Given the description of an element on the screen output the (x, y) to click on. 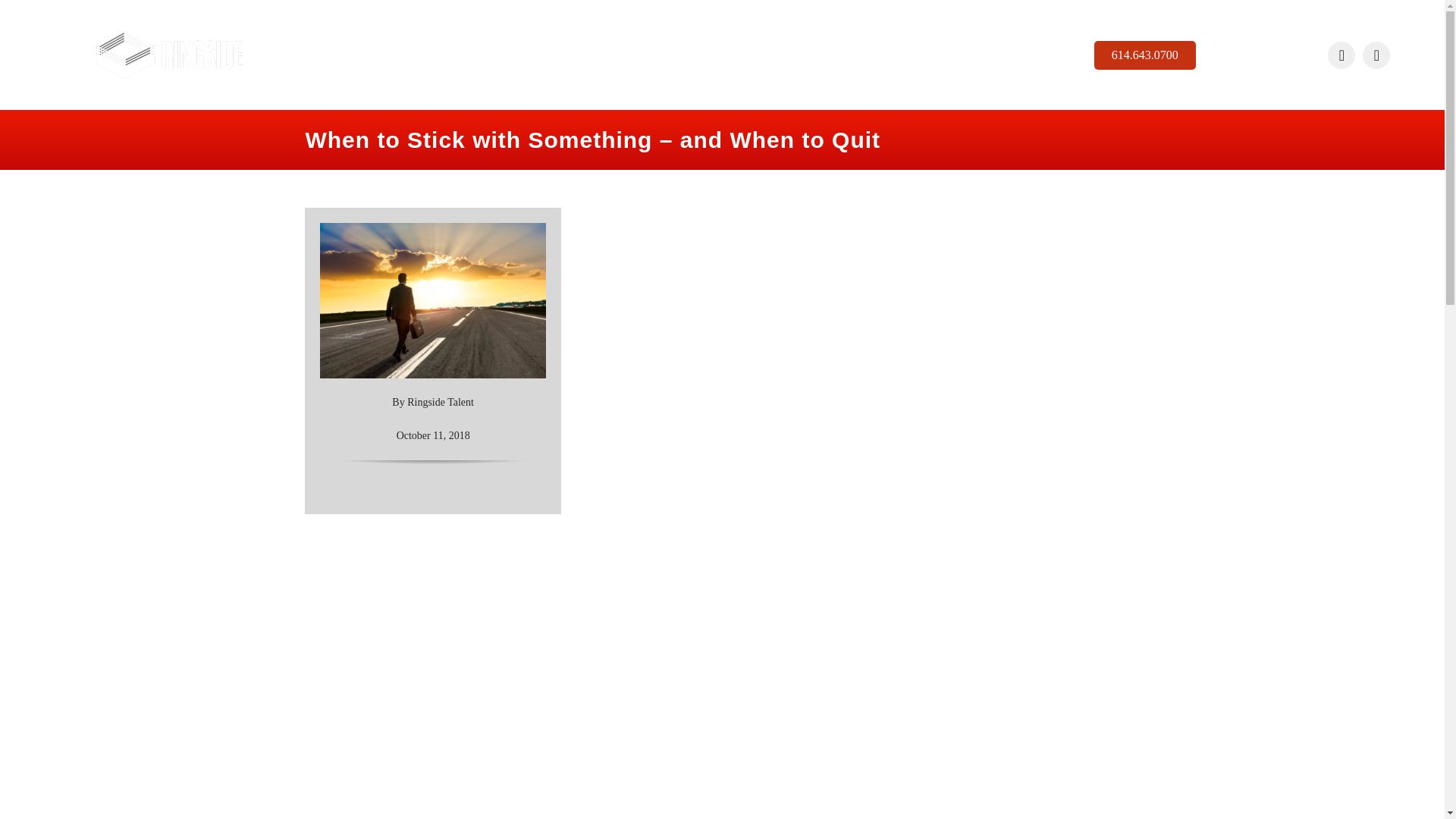
Entrepreneur walking for new opportunity (432, 300)
EXPERTISE (680, 53)
JOBS (613, 53)
EMPLOYERS (541, 53)
CONTACT (898, 53)
INSIGHTS (825, 53)
LinkedIn (1376, 53)
Instagram (1341, 53)
When to Stick with Something - and When to Quit 1 (168, 54)
614.643.0700 (1144, 54)
